Given the description of an element on the screen output the (x, y) to click on. 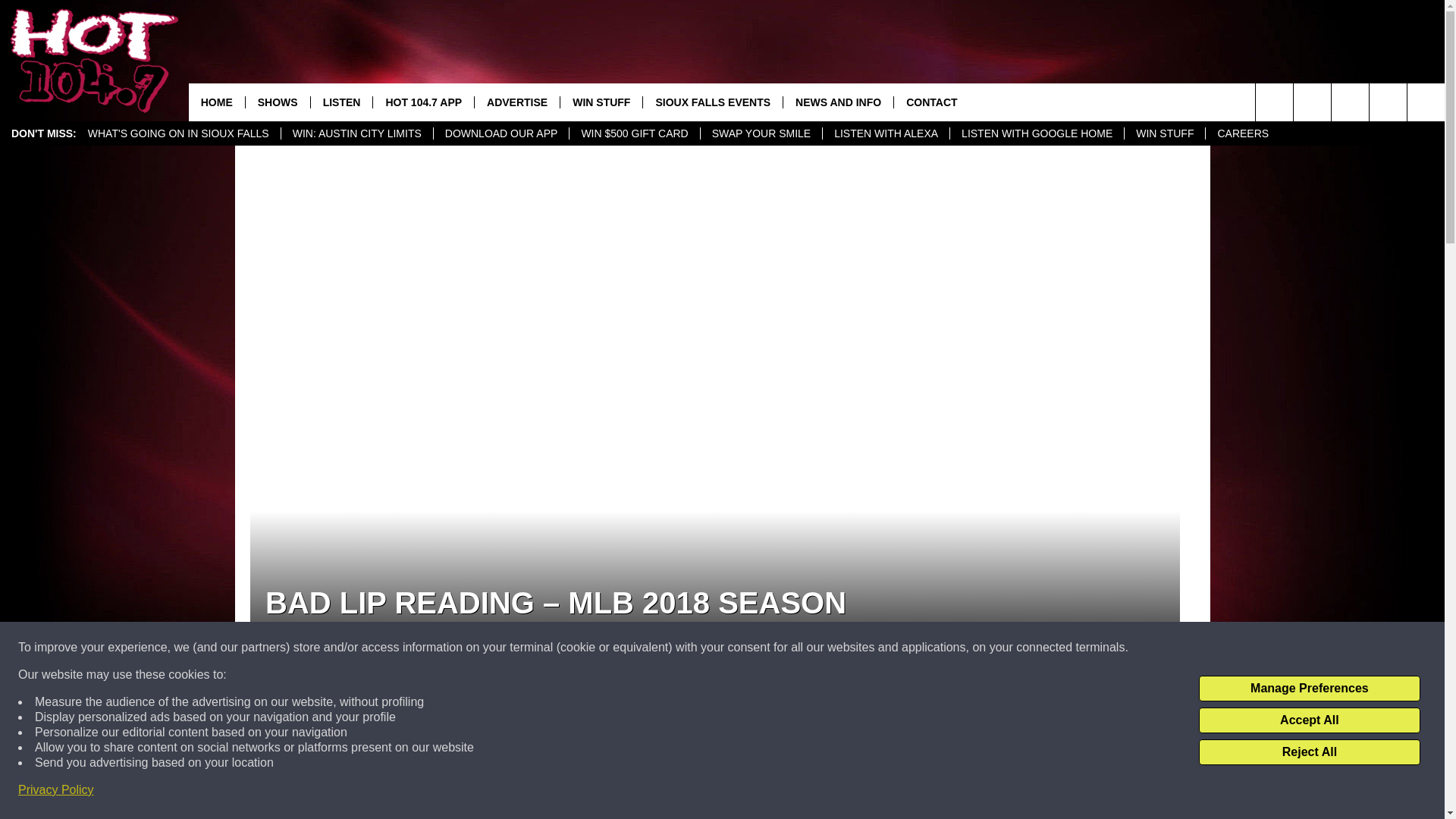
HOT 104.7 APP (423, 102)
Share on Facebook (517, 724)
LISTEN WITH ALEXA (885, 133)
SHOWS (277, 102)
HOME (216, 102)
ADVERTISE (516, 102)
WIN STUFF (1164, 133)
Accept All (1309, 720)
WIN STUFF (600, 102)
Privacy Policy (55, 789)
Manage Preferences (1309, 688)
DOWNLOAD OUR APP (500, 133)
LISTEN WITH GOOGLE HOME (1036, 133)
SWAP YOUR SMILE (761, 133)
WHAT'S GOING ON IN SIOUX FALLS (179, 133)
